Given the description of an element on the screen output the (x, y) to click on. 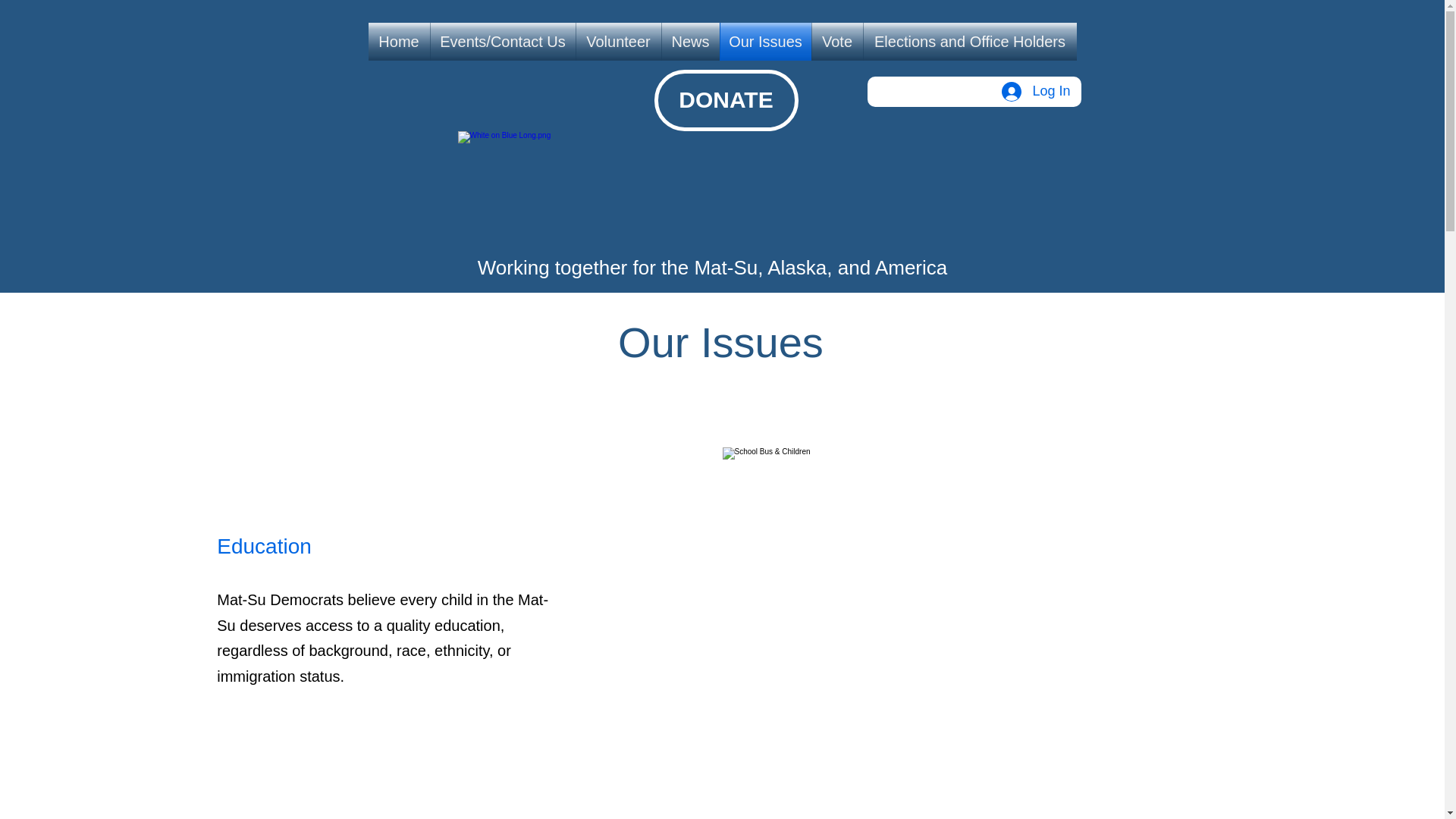
Elections and Office Holders (969, 41)
Our Issues (765, 41)
Volunteer (618, 41)
News (690, 41)
DONATE (725, 100)
2023 New Logo.png (713, 194)
Home (398, 41)
Log In (1035, 91)
Vote (835, 41)
